Given the description of an element on the screen output the (x, y) to click on. 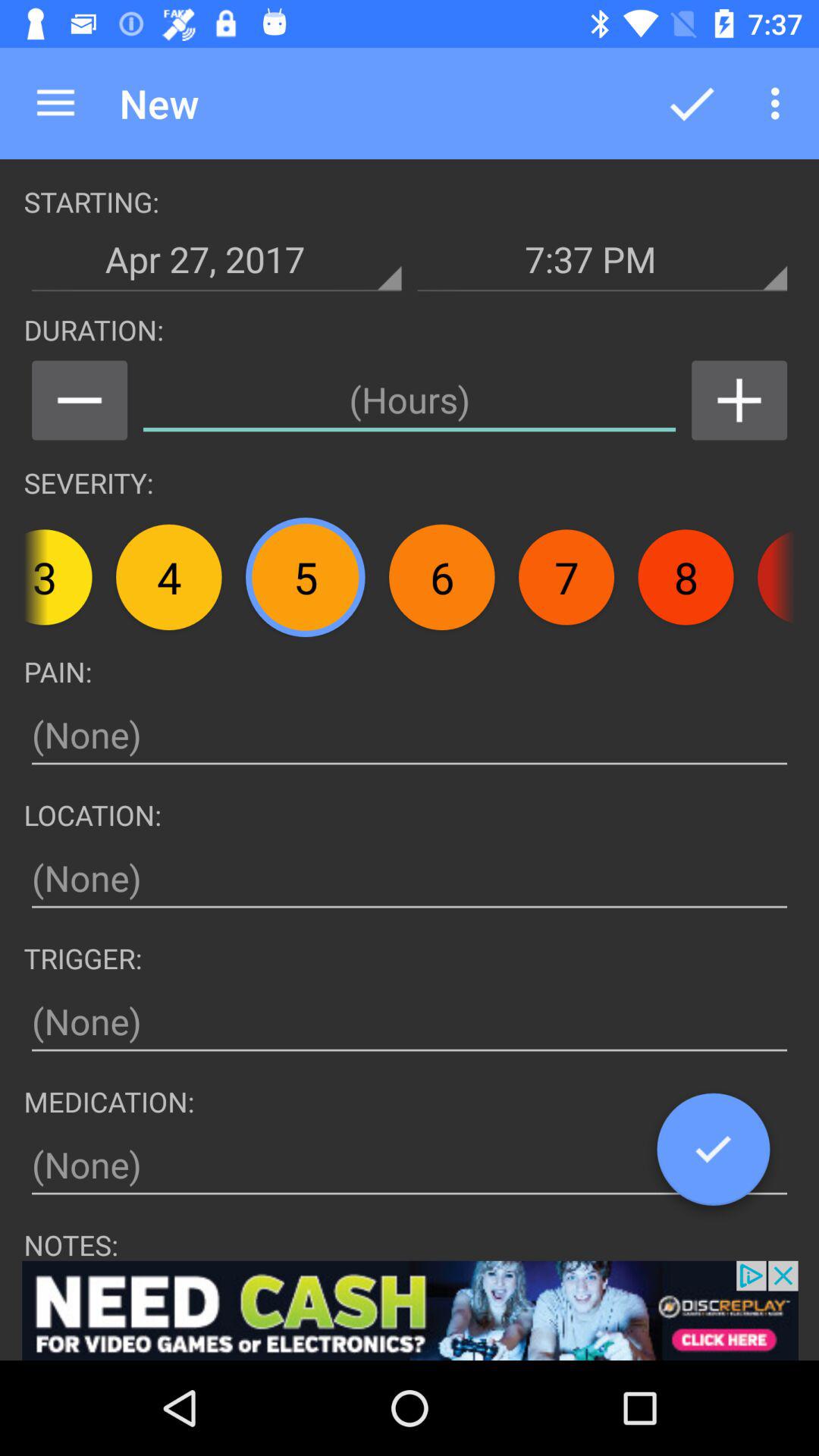
set duration of headache (409, 400)
